Given the description of an element on the screen output the (x, y) to click on. 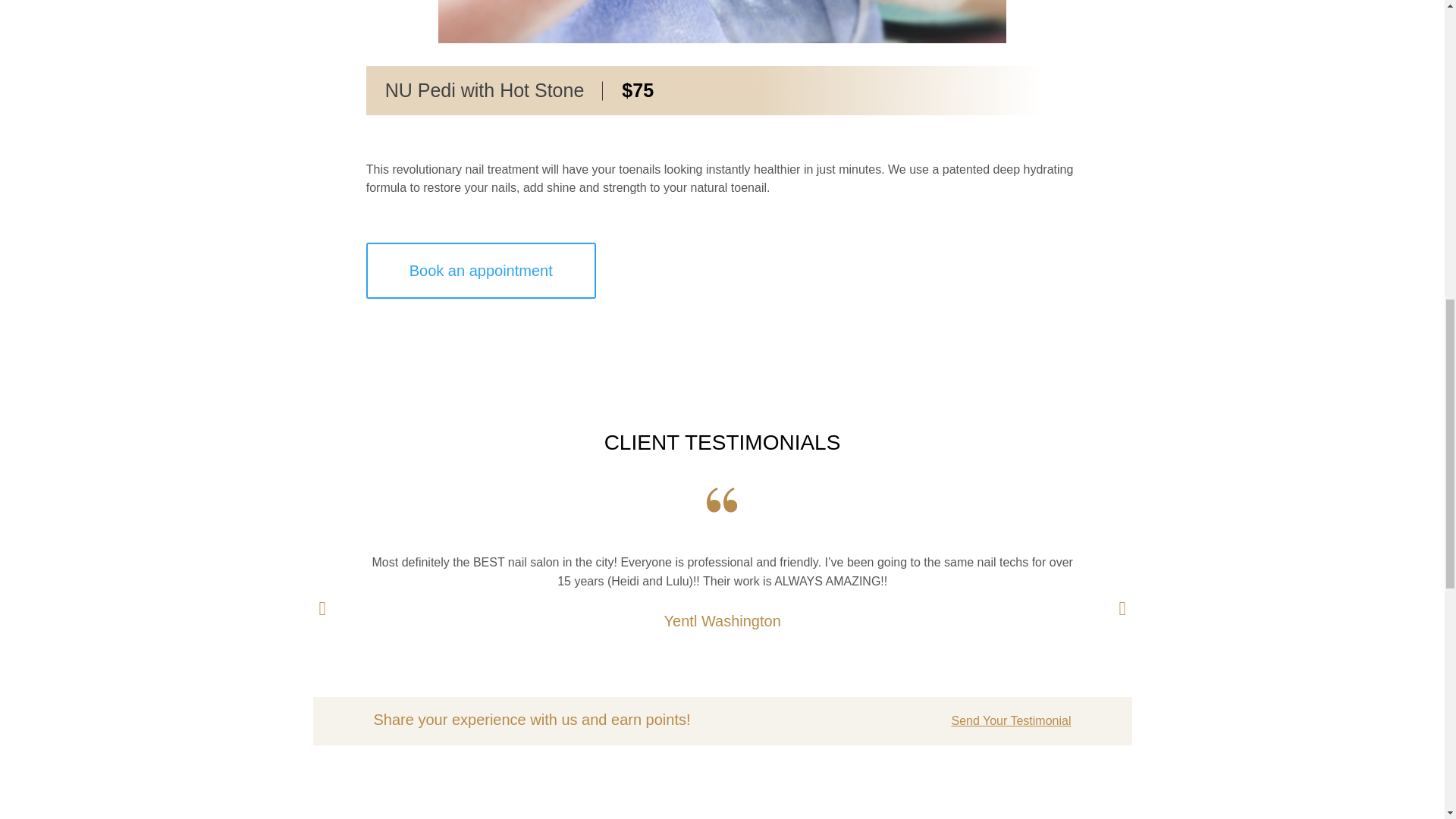
PS-NU Pedi with Hot Stone1 (722, 21)
